Given the description of an element on the screen output the (x, y) to click on. 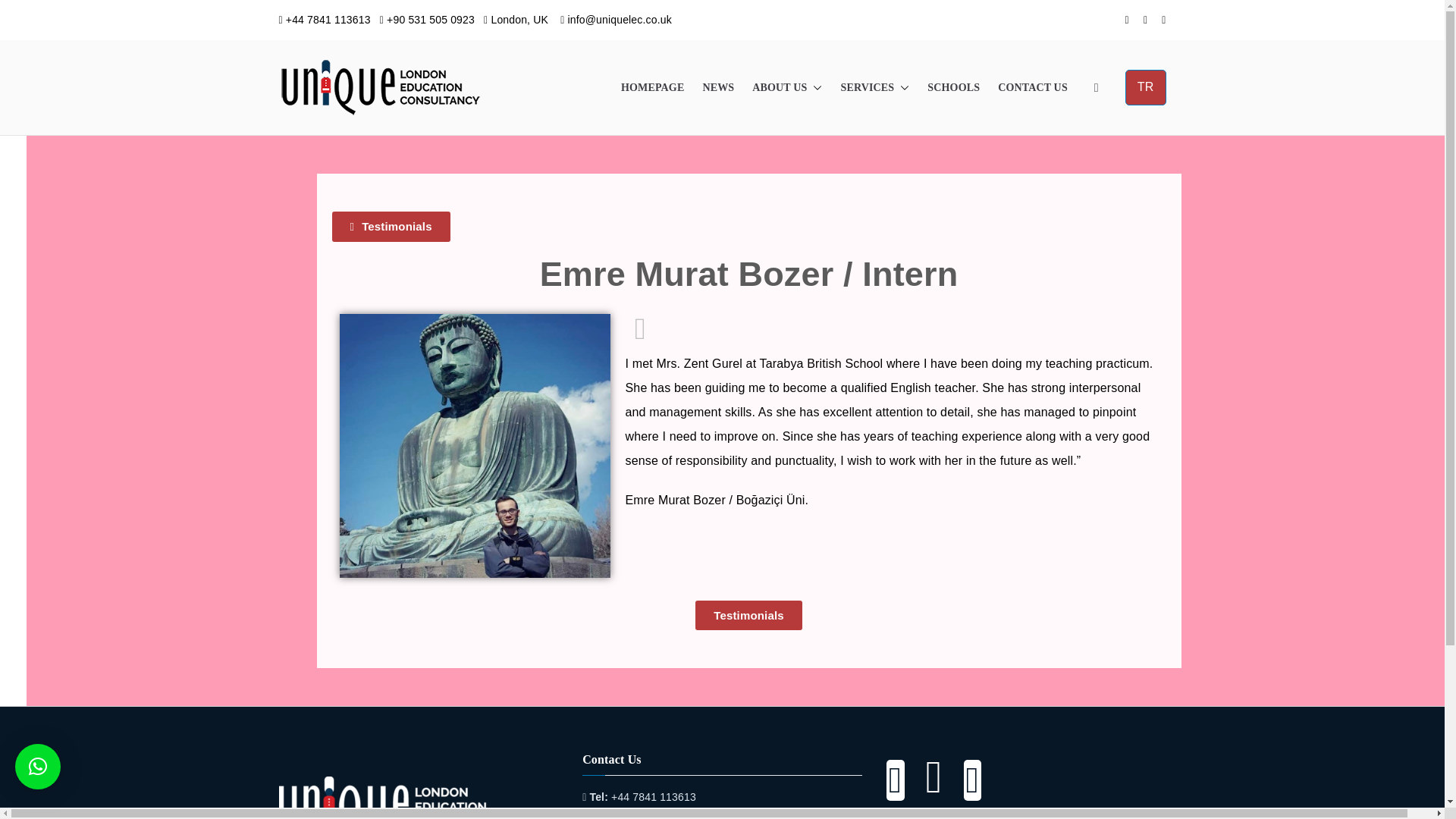
NEWS (717, 87)
SERVICES (874, 87)
ABOUT US (787, 87)
Facebook (895, 788)
CONTACT US (1032, 87)
SCHOOLS (953, 87)
TR (1145, 87)
Uniquelec (529, 98)
Instagram (924, 788)
HOMEPAGE (652, 87)
Linkedin (962, 788)
